Given the description of an element on the screen output the (x, y) to click on. 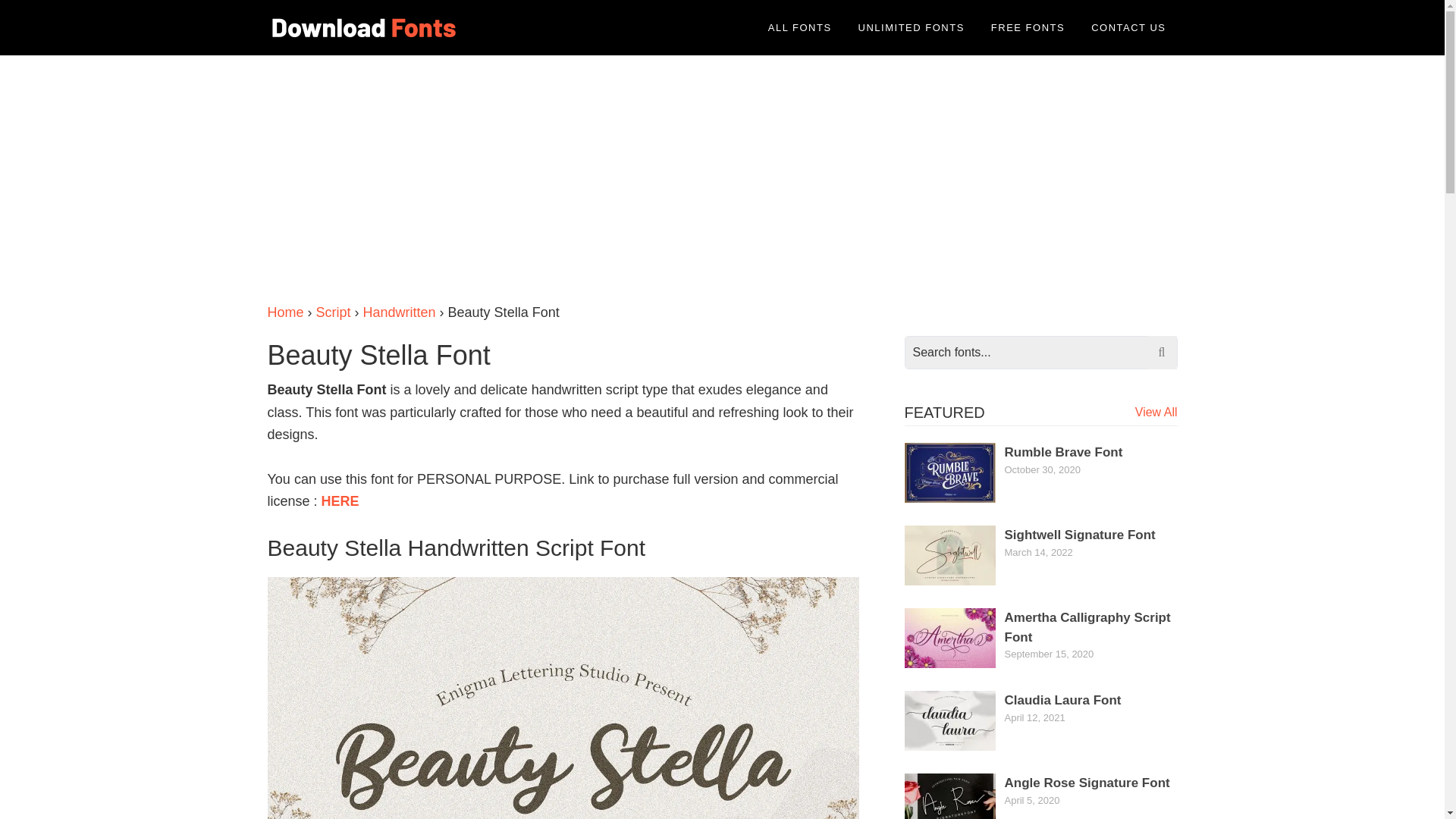
ALL FONTS (800, 27)
Script (332, 312)
Home (284, 312)
FREE FONTS (1027, 27)
Handwritten (398, 312)
CONTACT US (1128, 27)
UNLIMITED FONTS (911, 27)
HERE (340, 500)
